Given the description of an element on the screen output the (x, y) to click on. 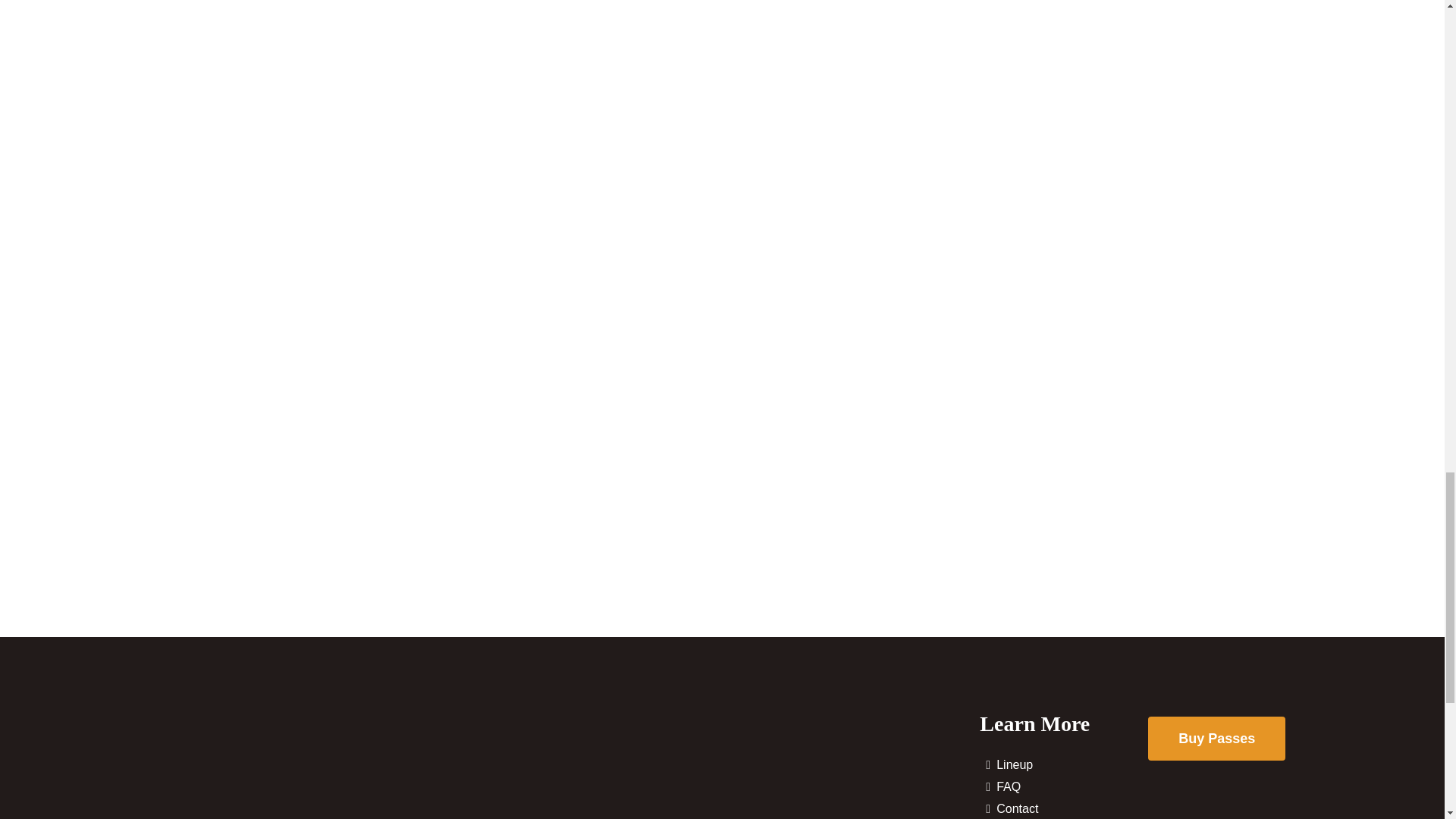
Contact (1063, 808)
Lineup (1063, 765)
FAQ (1063, 787)
YouTube video player (724, 101)
Buy Passes (1216, 738)
